Given the description of an element on the screen output the (x, y) to click on. 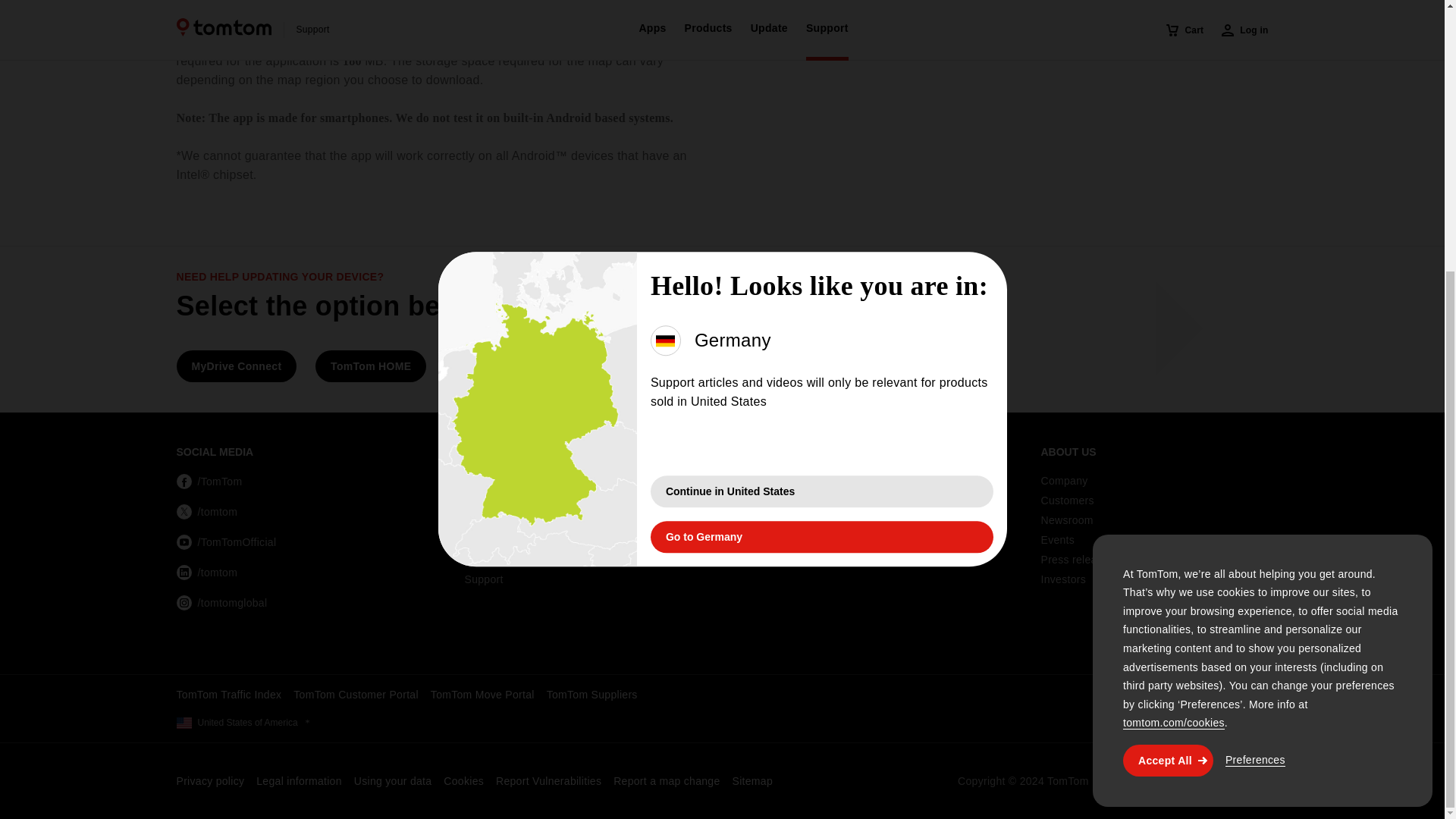
Mobile Apps (577, 480)
Facebook (208, 481)
Jobs (865, 480)
Support (577, 579)
In-Dash Navigation (577, 520)
YouTube (226, 541)
Personal and professional sat navs (577, 499)
Sat Nav Accessories (577, 540)
LinkedIn (206, 572)
Twitter (206, 511)
Instagram (221, 602)
